Given the description of an element on the screen output the (x, y) to click on. 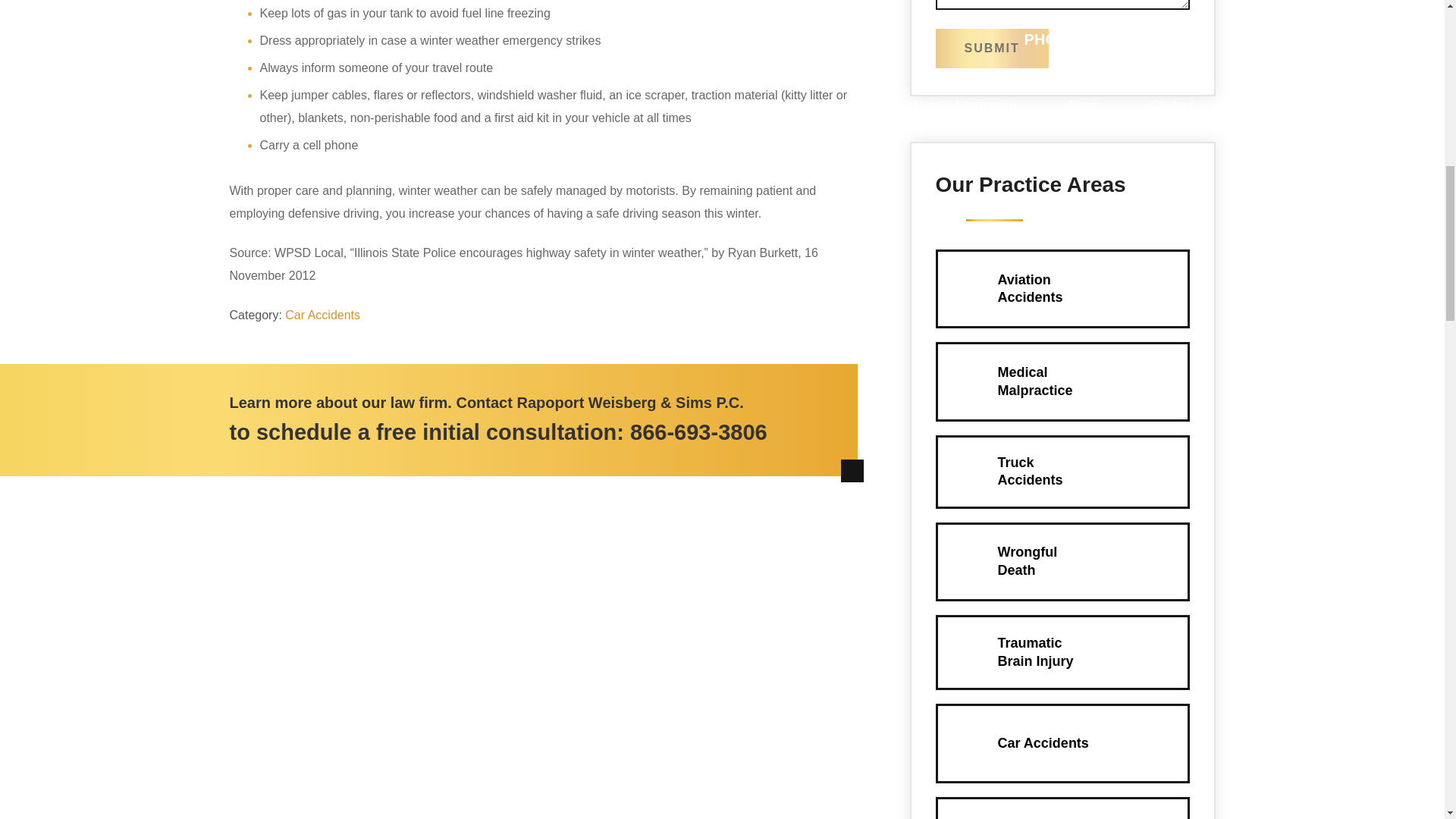
Car Accidents (322, 314)
866-693-3806 (1061, 652)
Products Liability (698, 432)
Car Accidents (1061, 809)
Submit (1061, 743)
Submit (992, 47)
